Given the description of an element on the screen output the (x, y) to click on. 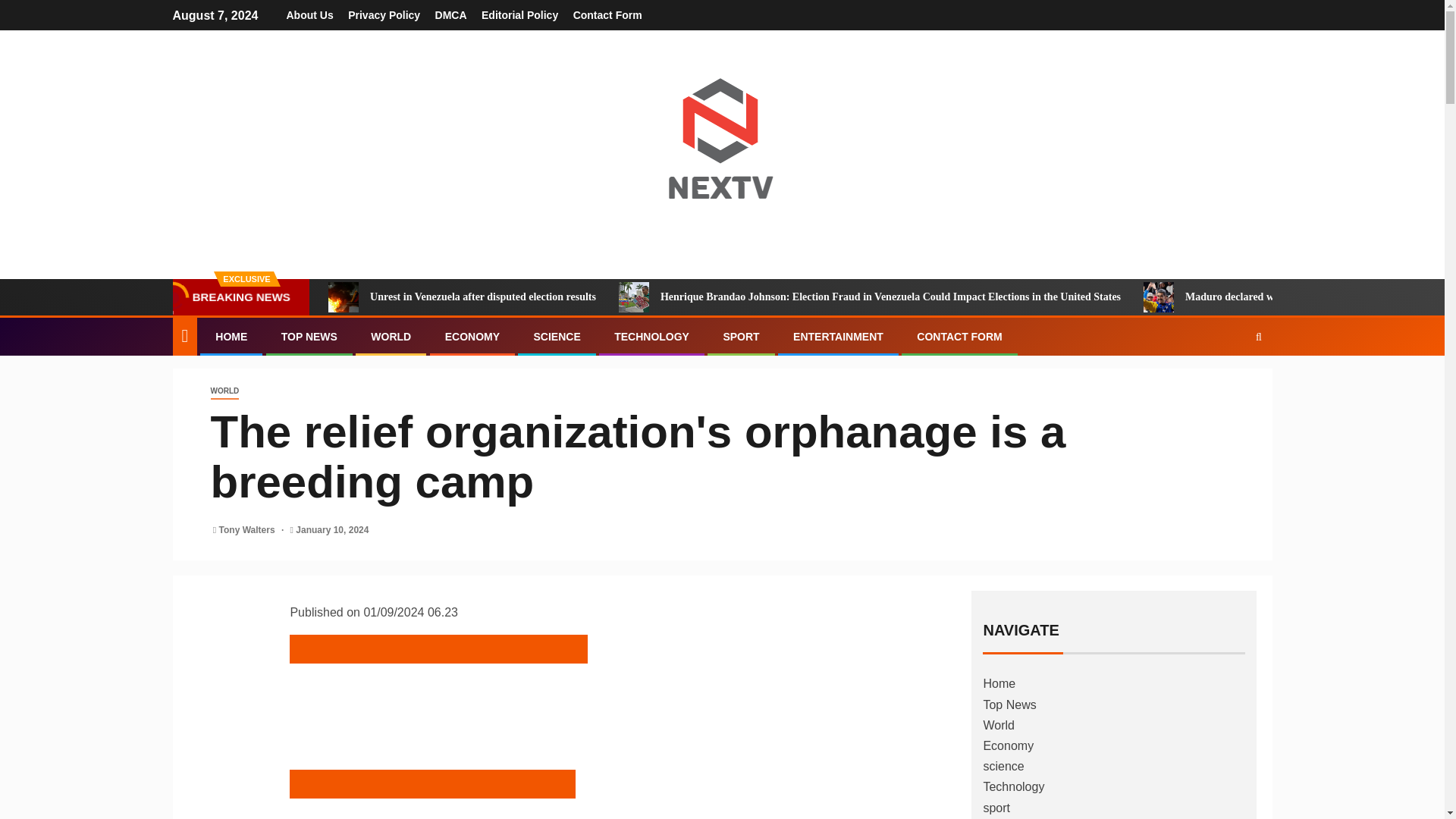
Search (1229, 382)
Tony Walters (248, 529)
SPORT (740, 336)
Unrest in Venezuela after disputed election results (343, 296)
Editorial Policy (519, 15)
CONTACT FORM (960, 336)
Not saved (411, 695)
ECONOMY (472, 336)
TECHNOLOGY (651, 336)
Maduro declared winner of Venezuela presidential election (1157, 296)
share share (411, 796)
ENTERTAINMENT (838, 336)
share sharebecause (432, 783)
